Given the description of an element on the screen output the (x, y) to click on. 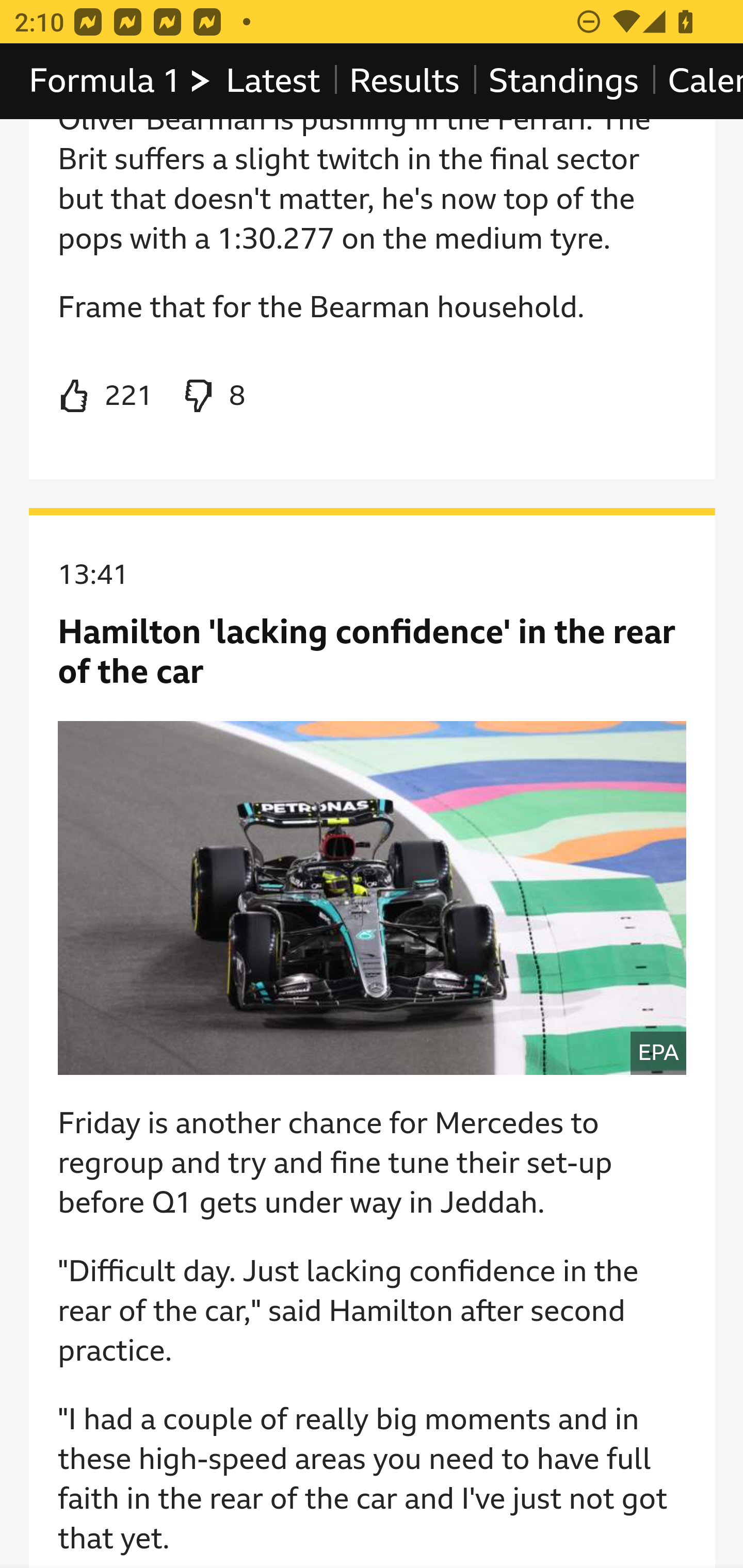
Like (105, 396)
Dislike (212, 396)
